Given the description of an element on the screen output the (x, y) to click on. 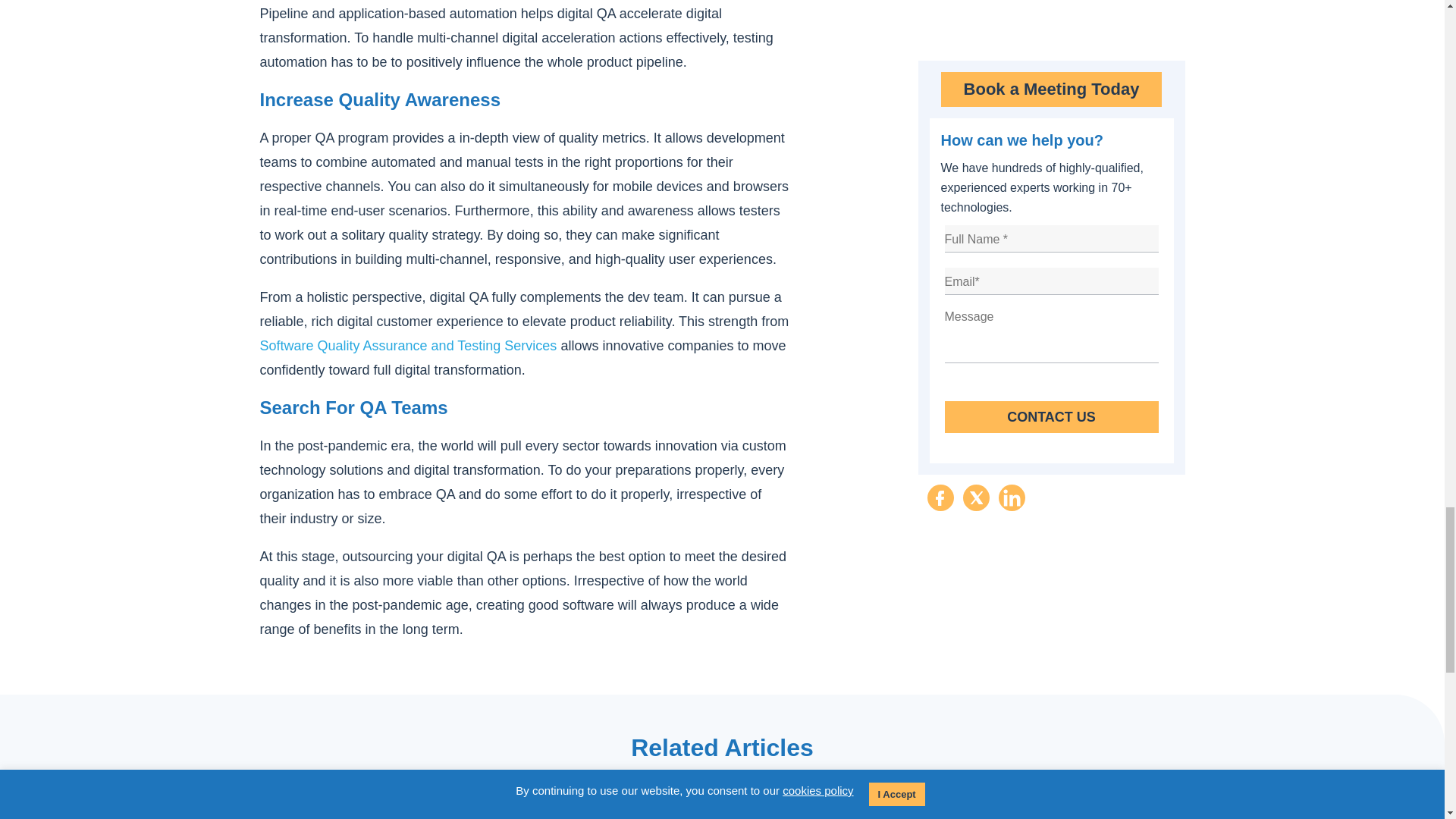
What Is Blazor and How Does It Work? (722, 802)
The Complete Guide to Hiring QA Developers (1038, 797)
